Given the description of an element on the screen output the (x, y) to click on. 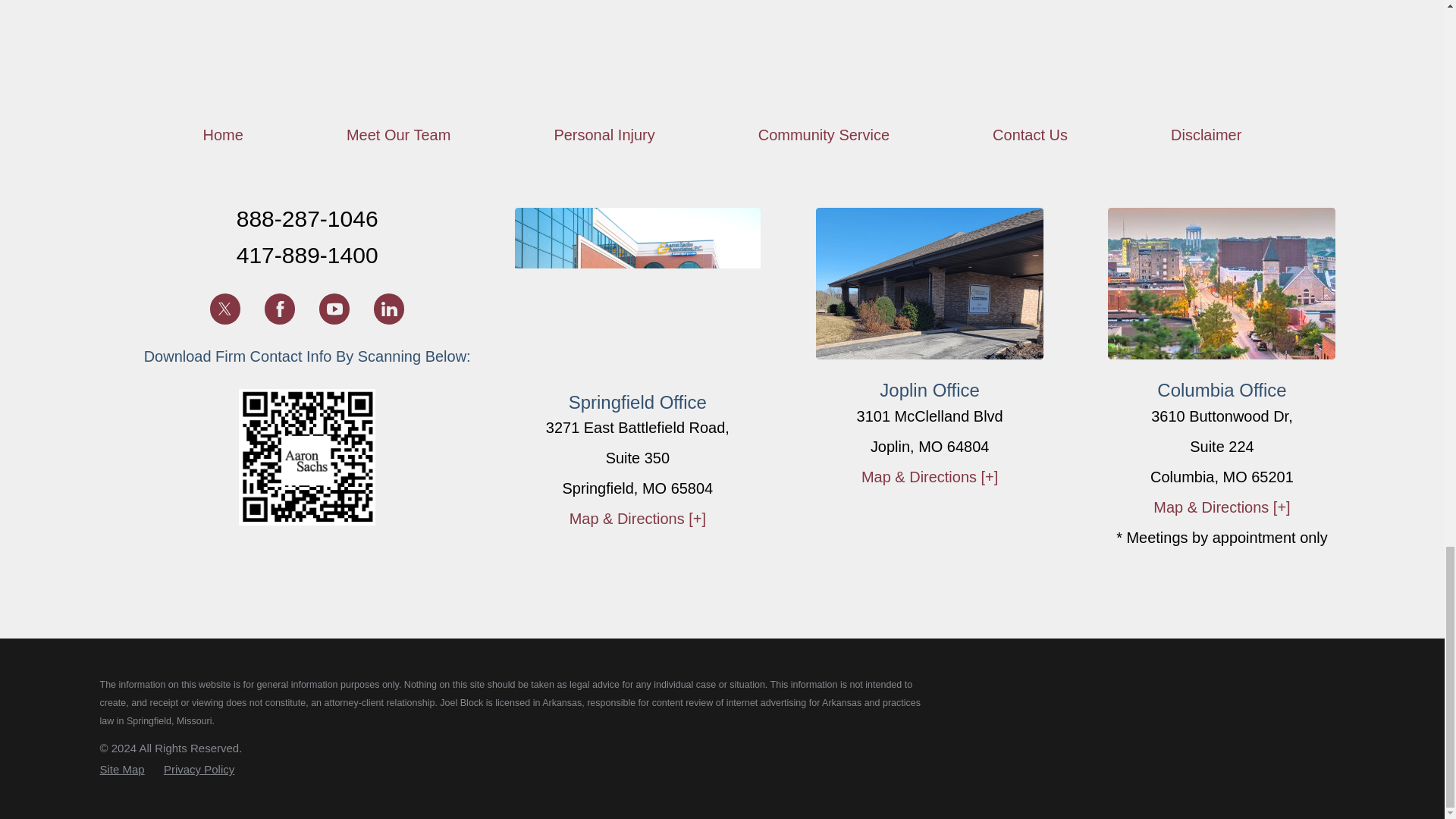
LinkedIn (389, 308)
Twitter (224, 308)
Facebook (279, 308)
YouTube (333, 308)
